Given the description of an element on the screen output the (x, y) to click on. 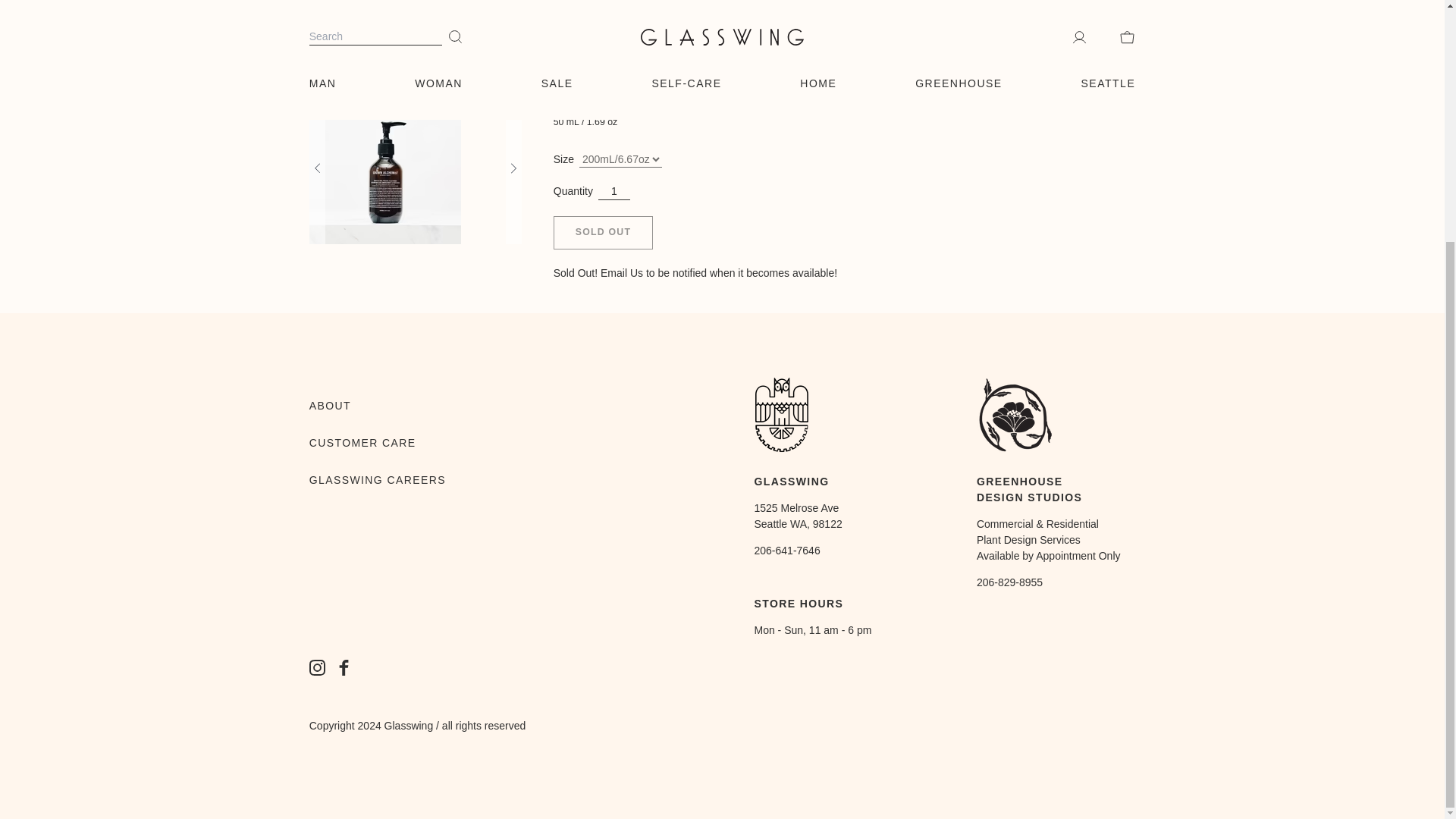
Sold Out (602, 232)
tel:206-829-8955 (1009, 581)
1 (614, 190)
tel:206-641-7646 (786, 549)
